Given the description of an element on the screen output the (x, y) to click on. 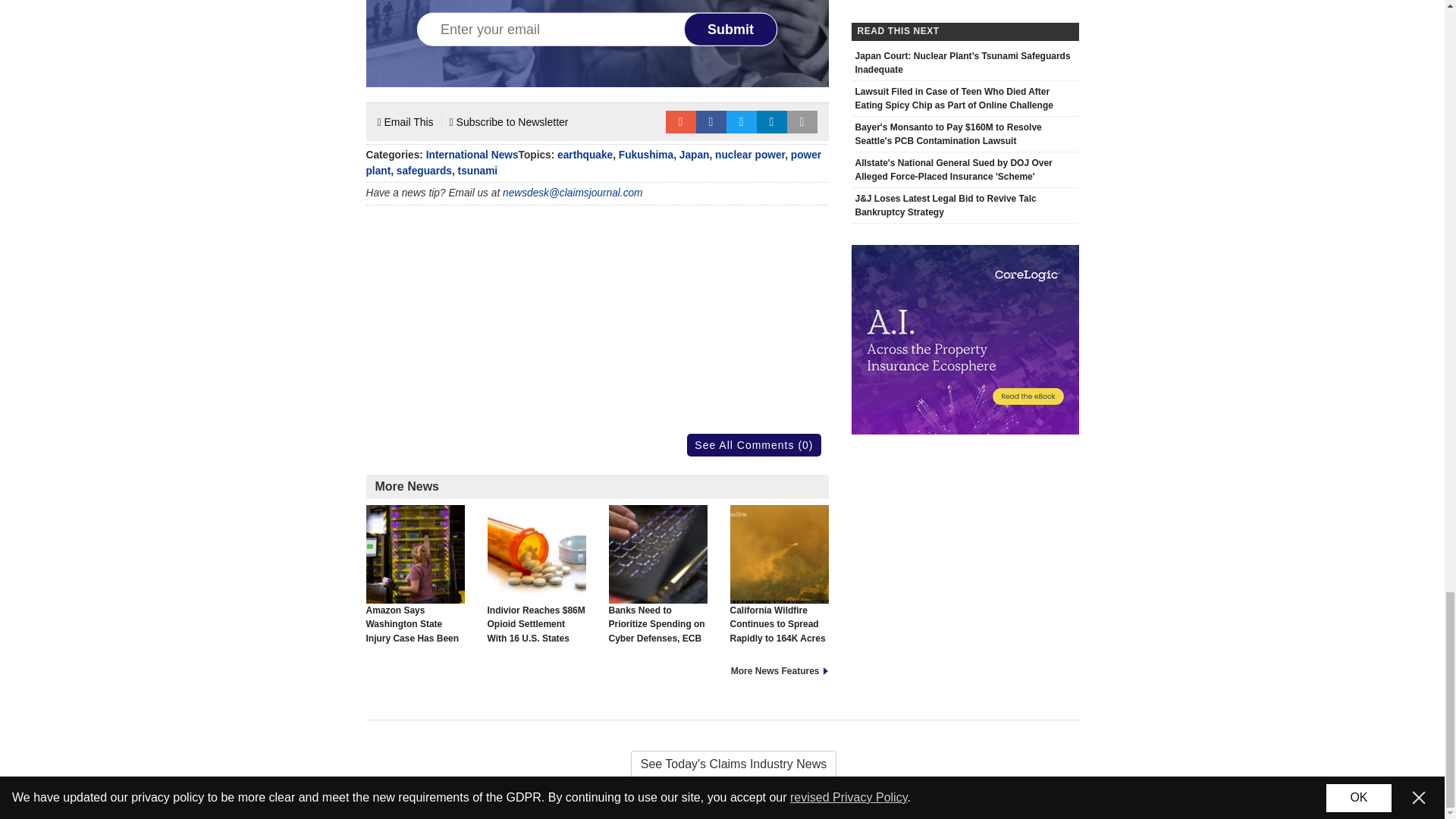
See Today's Claims Industry News (721, 764)
Email to a friend (680, 121)
Print Article (801, 121)
See Today's Claims Industry News (721, 764)
Post to Facebook. (710, 121)
Share on LinkedIn. (772, 121)
Submit (730, 28)
Share on Twitter. (741, 121)
